Given the description of an element on the screen output the (x, y) to click on. 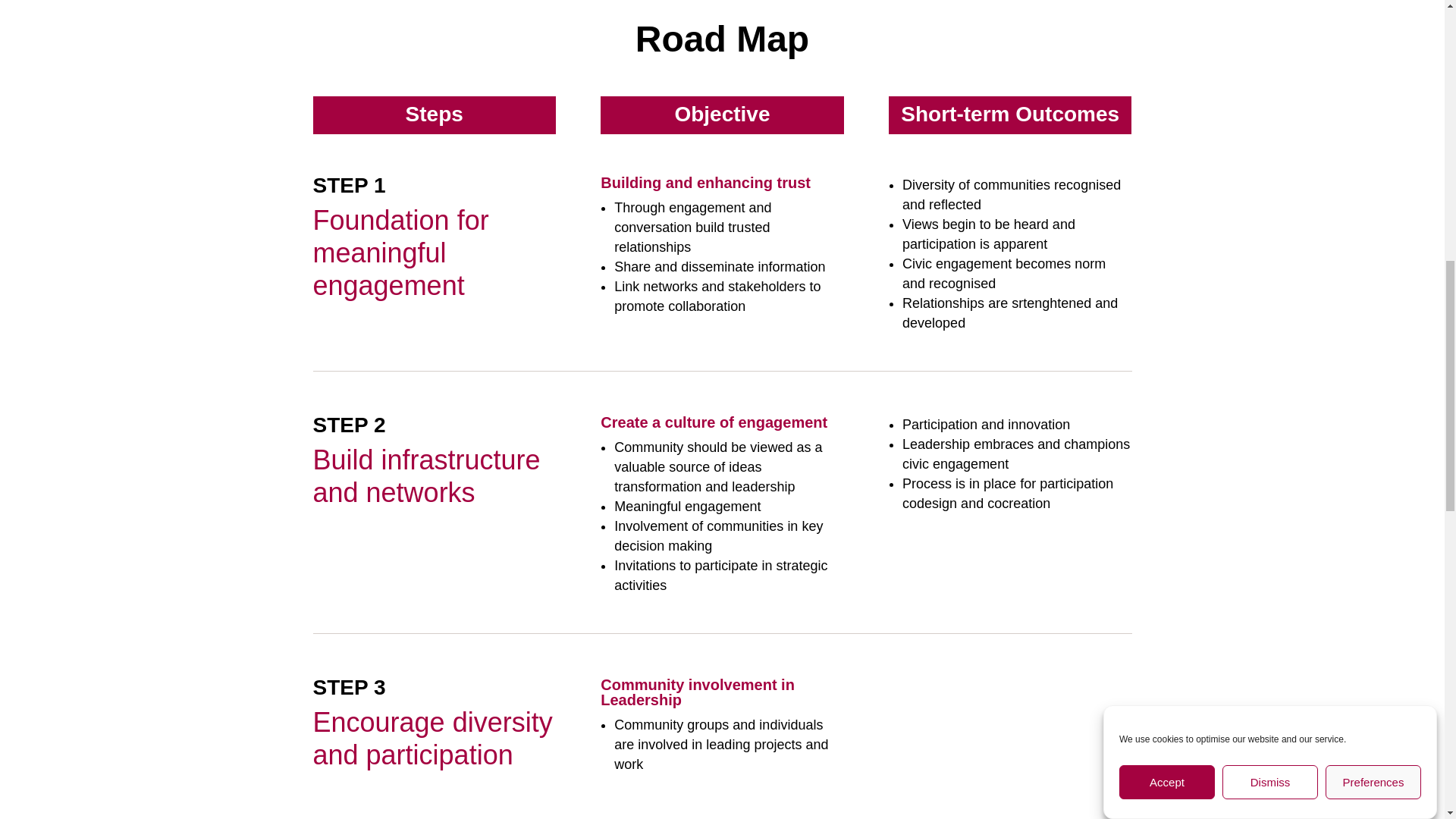
Preferences (1372, 162)
Dismiss (1270, 190)
Accept (1166, 220)
